Given the description of an element on the screen output the (x, y) to click on. 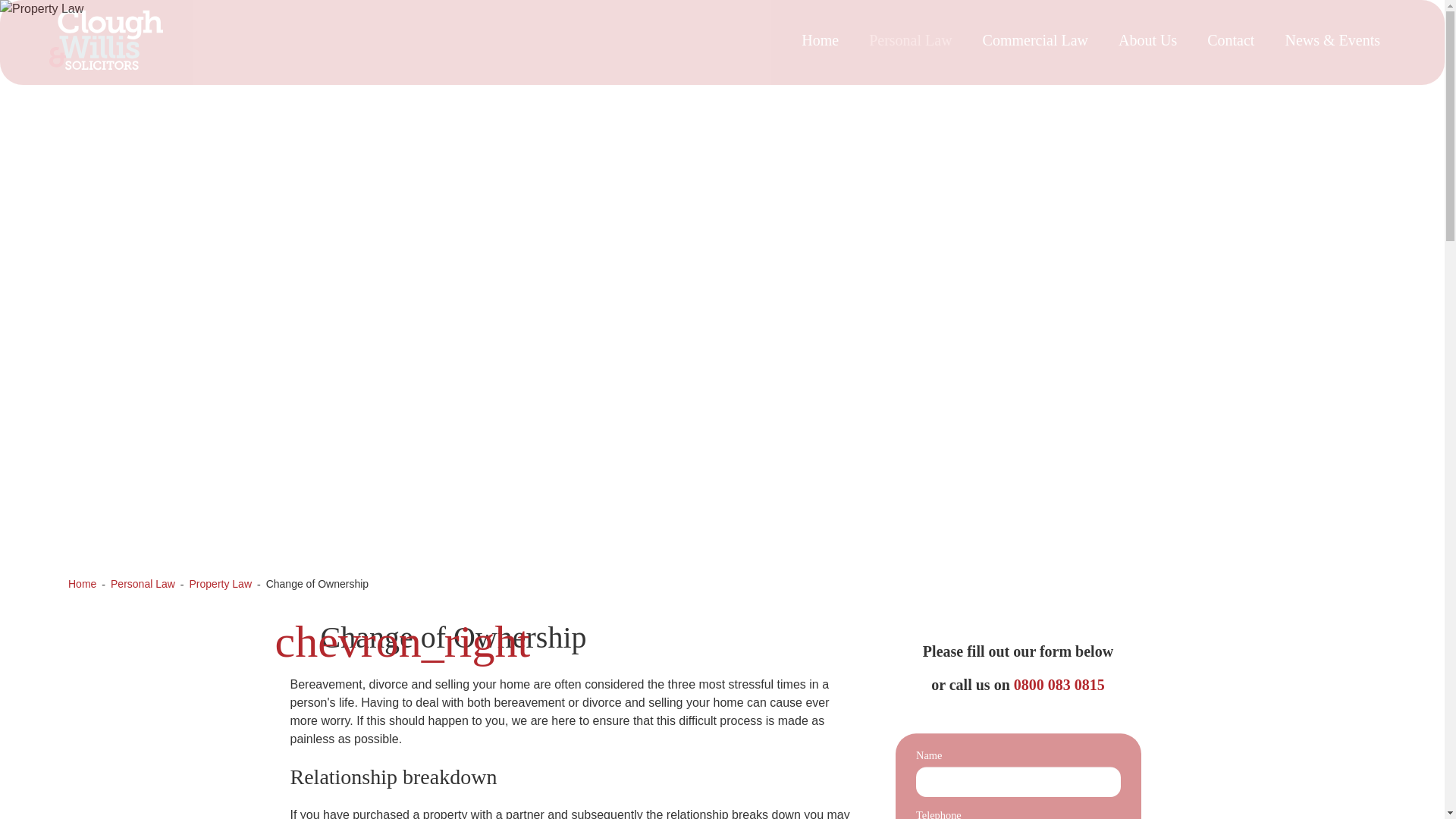
Personal Law (909, 39)
Clough Willis Home (106, 74)
Home (819, 39)
